Given the description of an element on the screen output the (x, y) to click on. 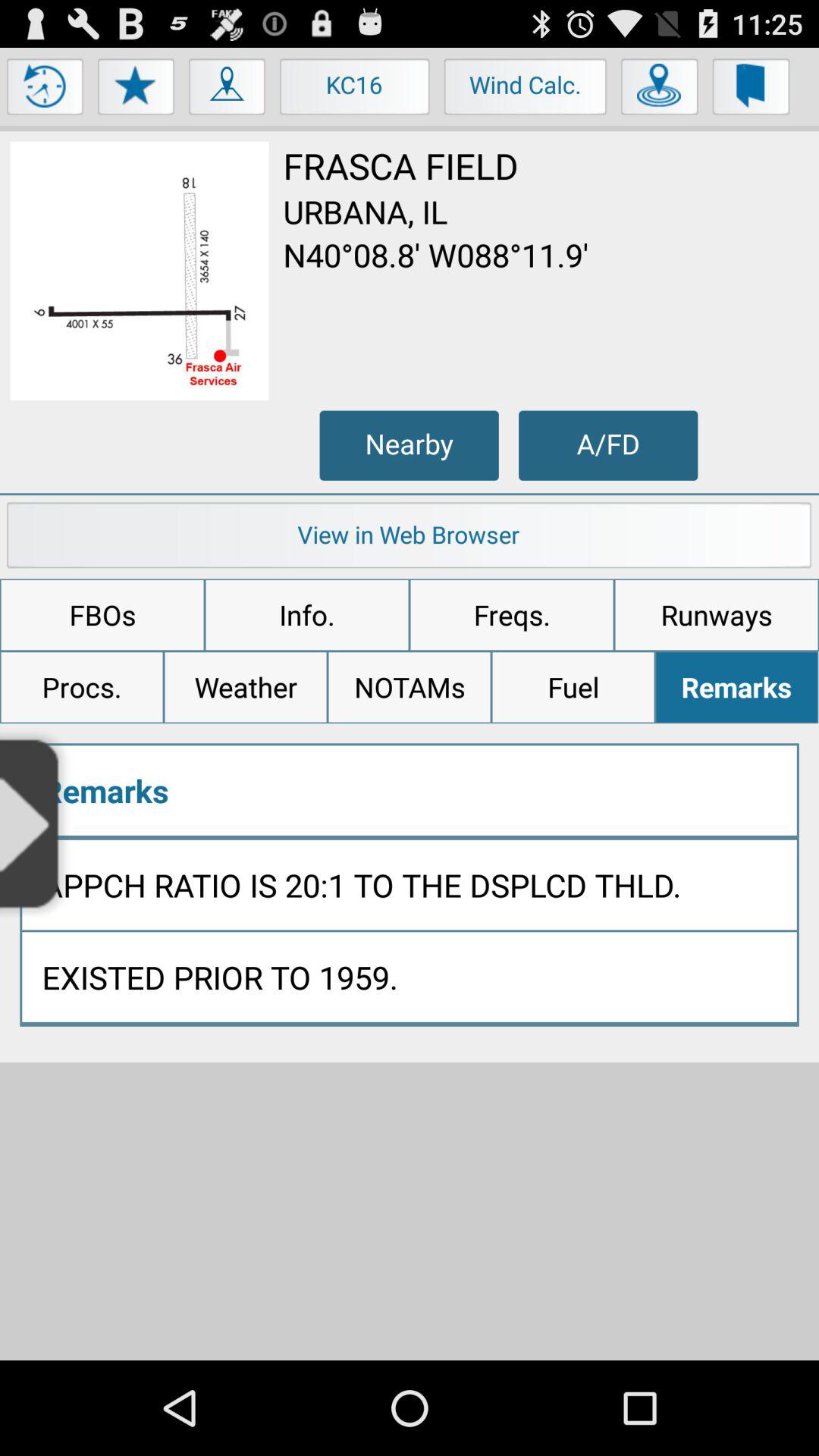
click star icon (136, 90)
